Given the description of an element on the screen output the (x, y) to click on. 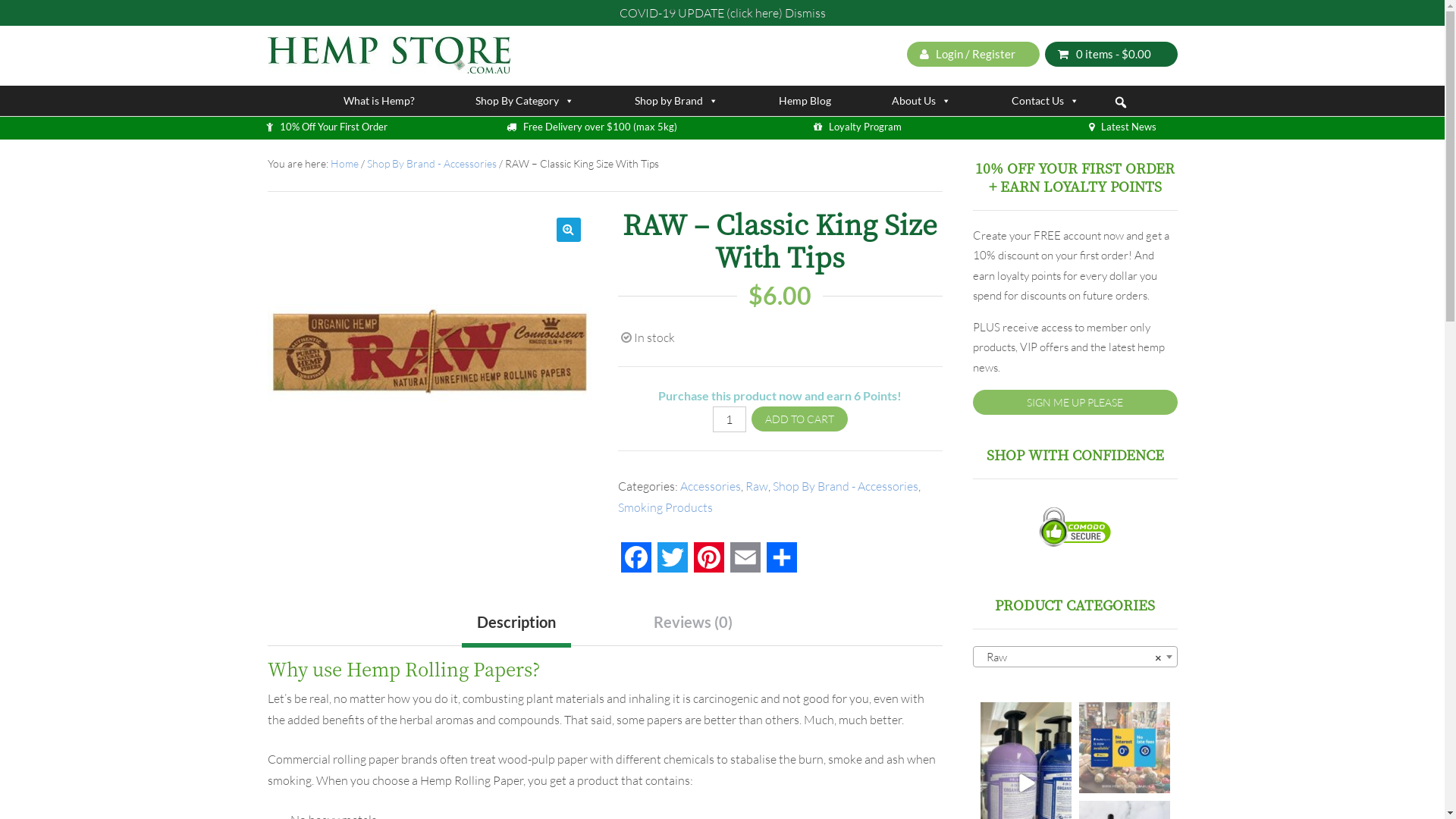
Accessories Element type: text (710, 485)
Loyalty Program Element type: text (864, 126)
0 items - $0.00 Element type: text (1110, 52)
Facebook Element type: text (636, 562)
Smoking Products Element type: text (665, 506)
Raw Element type: text (756, 485)
About Us Element type: text (921, 100)
Share Element type: text (781, 562)
COVID-19 UPDATE (click here) Element type: text (699, 12)
Hemp Blog Element type: text (803, 100)
Shop By Brand - Accessories Element type: text (845, 485)
Email Element type: text (745, 562)
Pinterest Element type: text (708, 562)
Dismiss Element type: text (804, 12)
10% Off Your First Order Element type: text (332, 126)
Contact Us Element type: text (1045, 100)
Shop By Brand - Accessories Element type: text (431, 162)
What is Hemp? Element type: text (378, 100)
Search Element type: text (13, 12)
Latest News Element type: text (1128, 126)
Reviews (0) Element type: text (692, 622)
77bb6ae99b67f06089c494a997d53938fcaa0431.jpg Element type: hover (428, 368)
SIGN ME UP PLEASE Element type: text (1074, 401)
Twitter Element type: text (672, 562)
Description Element type: text (516, 624)
Home Element type: text (344, 162)
Comodo Positive SSL Element type: hover (1075, 526)
Shop by Brand Element type: text (675, 100)
ADD TO CART Element type: text (799, 418)
Shop By Category Element type: text (523, 100)
Free Delivery over $100 (max 5kg) Element type: text (600, 126)
Login / Register Element type: text (972, 52)
